Given the description of an element on the screen output the (x, y) to click on. 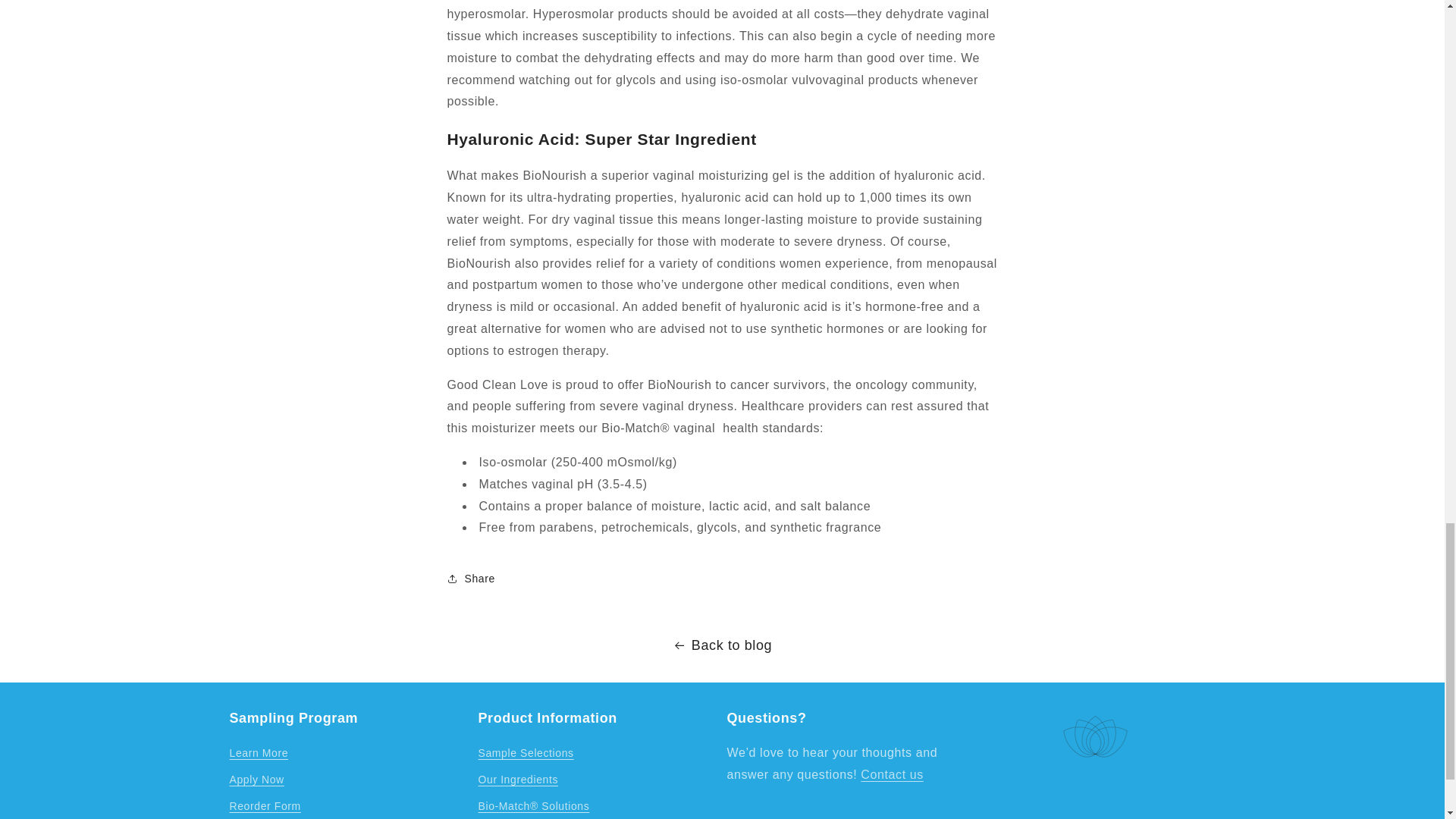
Contact Us (891, 774)
Learn More (258, 754)
Apply Now (255, 779)
